Given the description of an element on the screen output the (x, y) to click on. 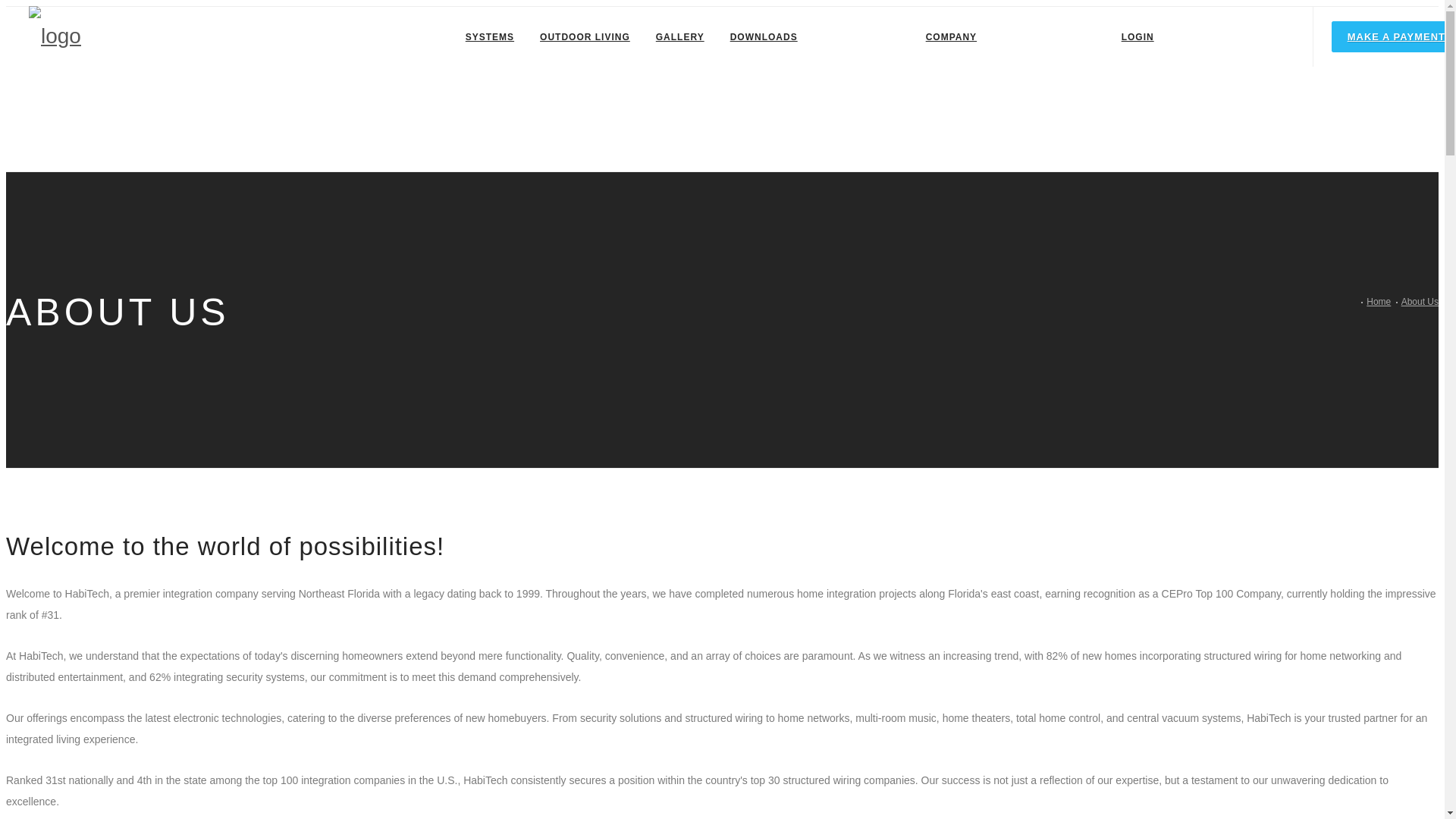
OUTDOOR LIVING (584, 36)
SYSTEMS (489, 36)
Home (1378, 301)
GALLERY (679, 36)
logo (55, 35)
LOGIN (1137, 36)
COMPANY (951, 36)
About Us (1419, 301)
DOWNLOADS (763, 36)
MAKE A PAYMENT (1394, 36)
